Given the description of an element on the screen output the (x, y) to click on. 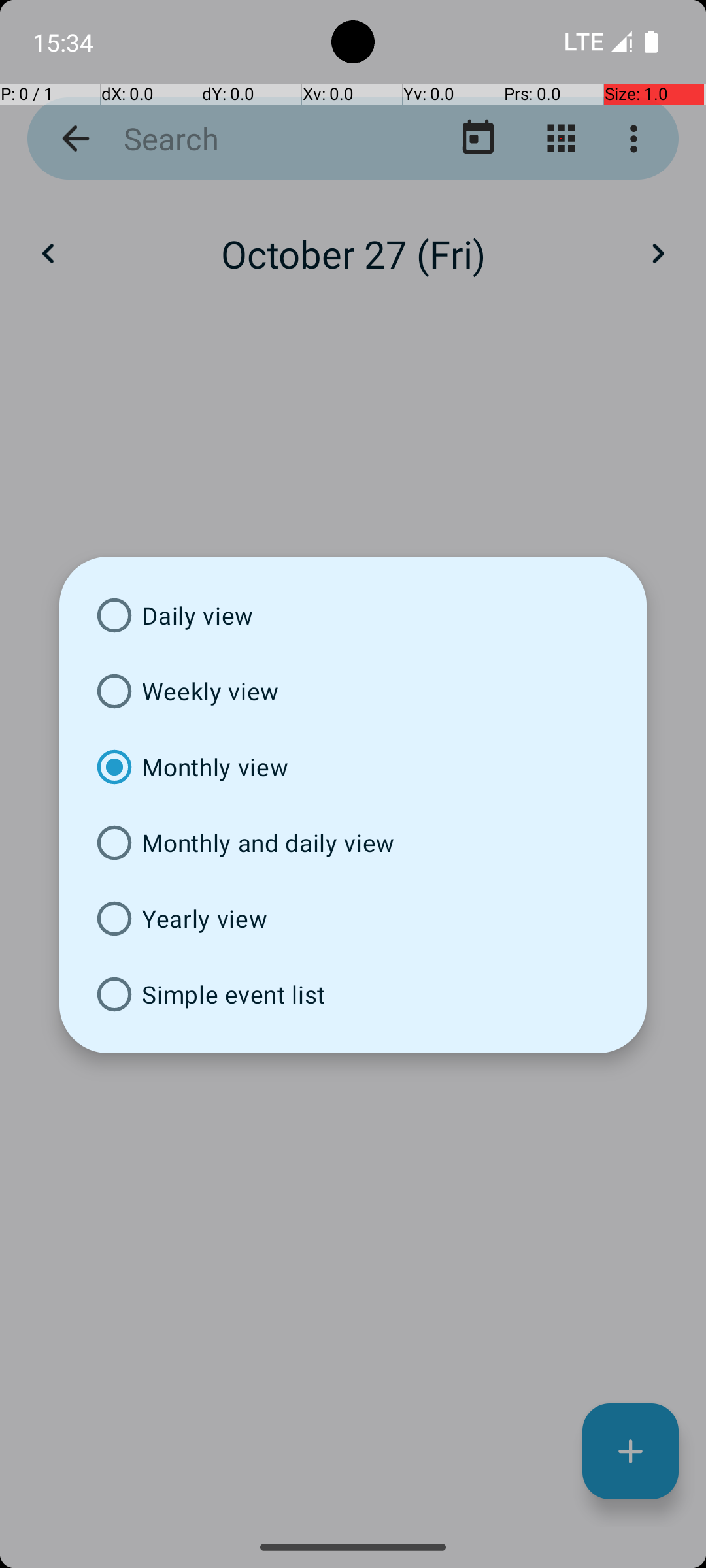
Daily view Element type: android.widget.RadioButton (352, 615)
Weekly view Element type: android.widget.RadioButton (352, 691)
Monthly view Element type: android.widget.RadioButton (352, 766)
Monthly and daily view Element type: android.widget.RadioButton (352, 842)
Yearly view Element type: android.widget.RadioButton (352, 918)
Simple event list Element type: android.widget.RadioButton (352, 994)
